Given the description of an element on the screen output the (x, y) to click on. 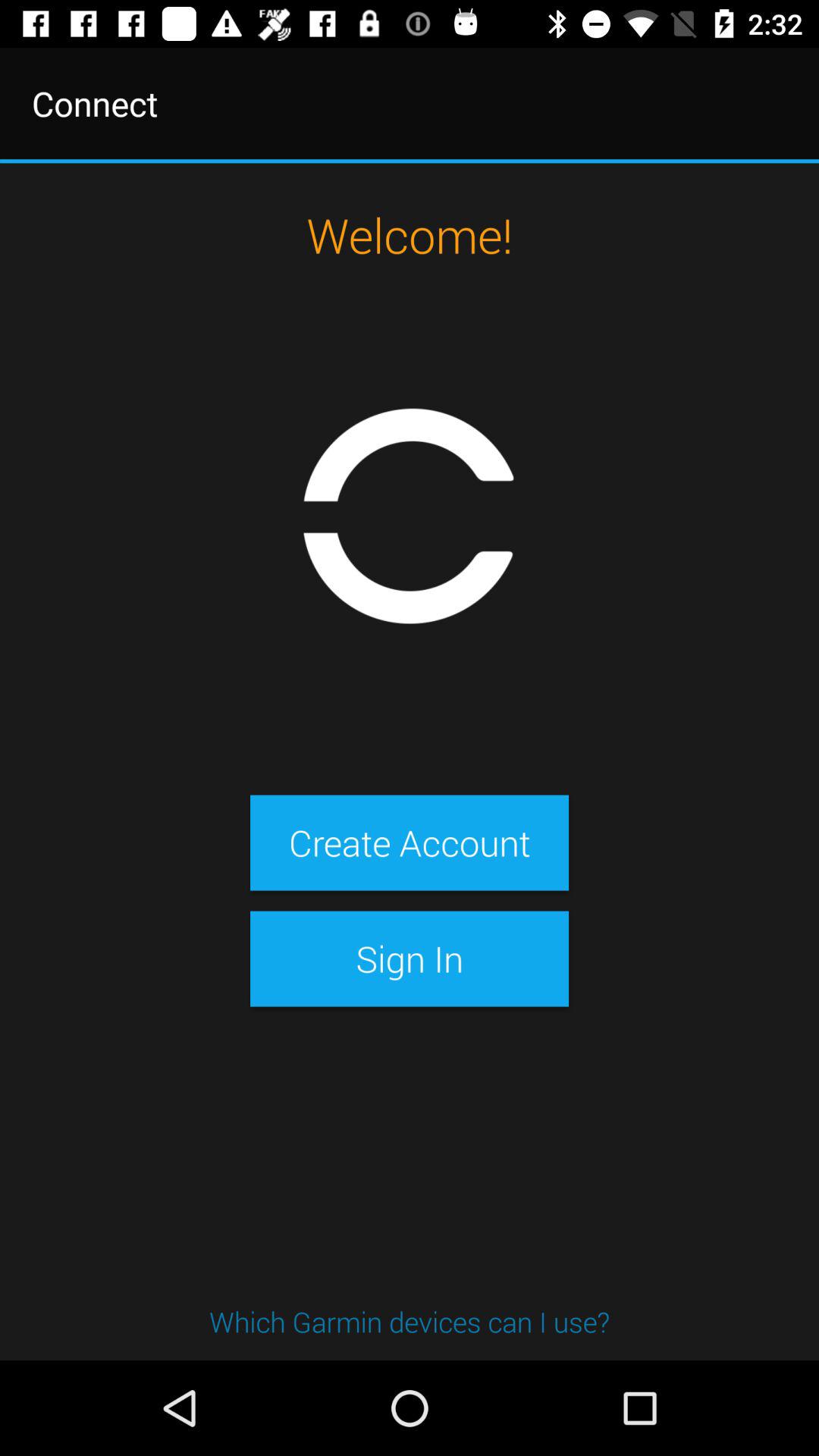
launch the which garmin devices icon (409, 1321)
